Given the description of an element on the screen output the (x, y) to click on. 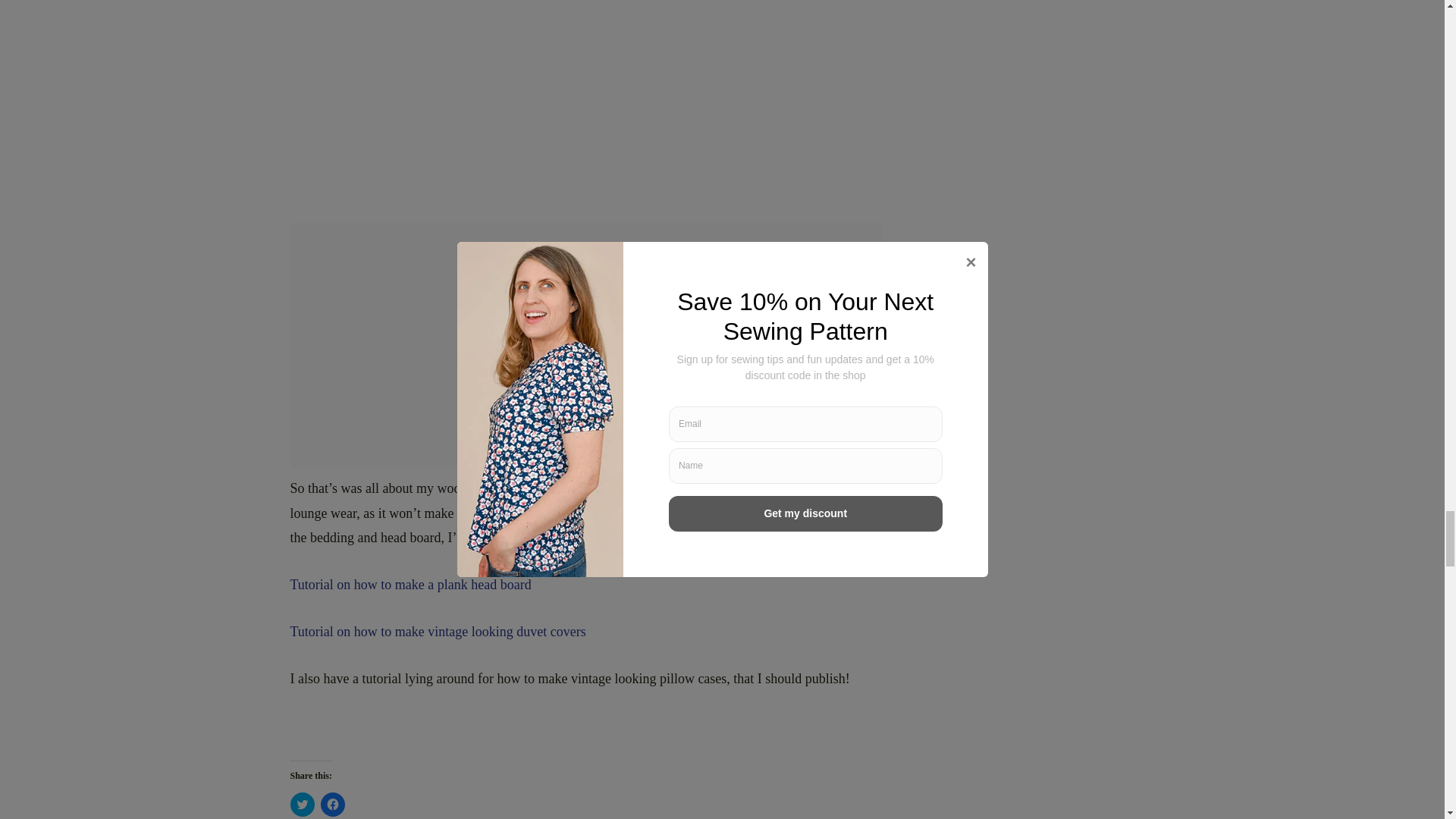
Click to share on Twitter (301, 804)
Click to share on Facebook (331, 804)
